Given the description of an element on the screen output the (x, y) to click on. 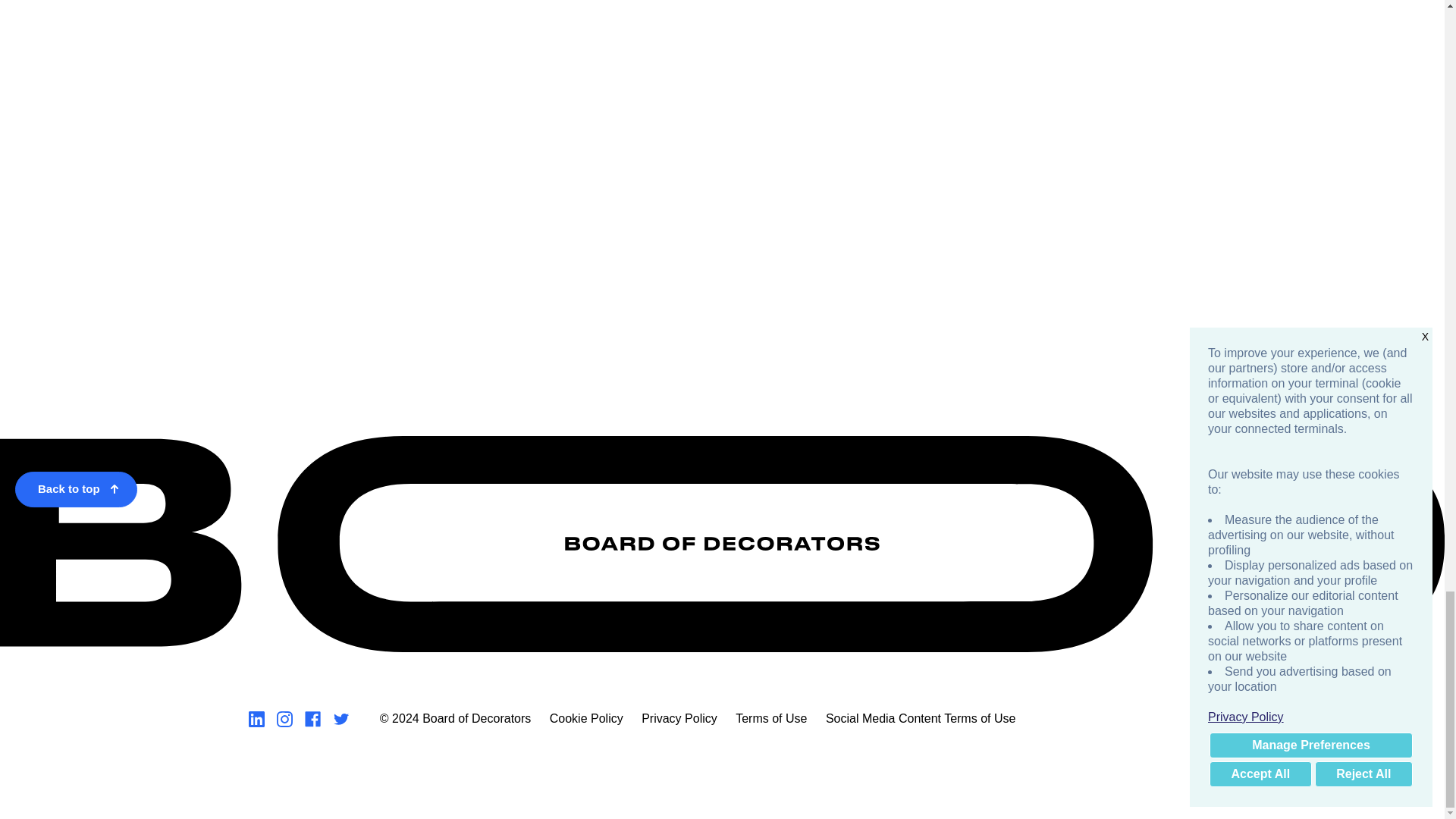
Cookie Policy (586, 717)
Terms of Use (770, 717)
Social Media Content Terms of Use (919, 717)
Privacy Policy (679, 717)
